Given the description of an element on the screen output the (x, y) to click on. 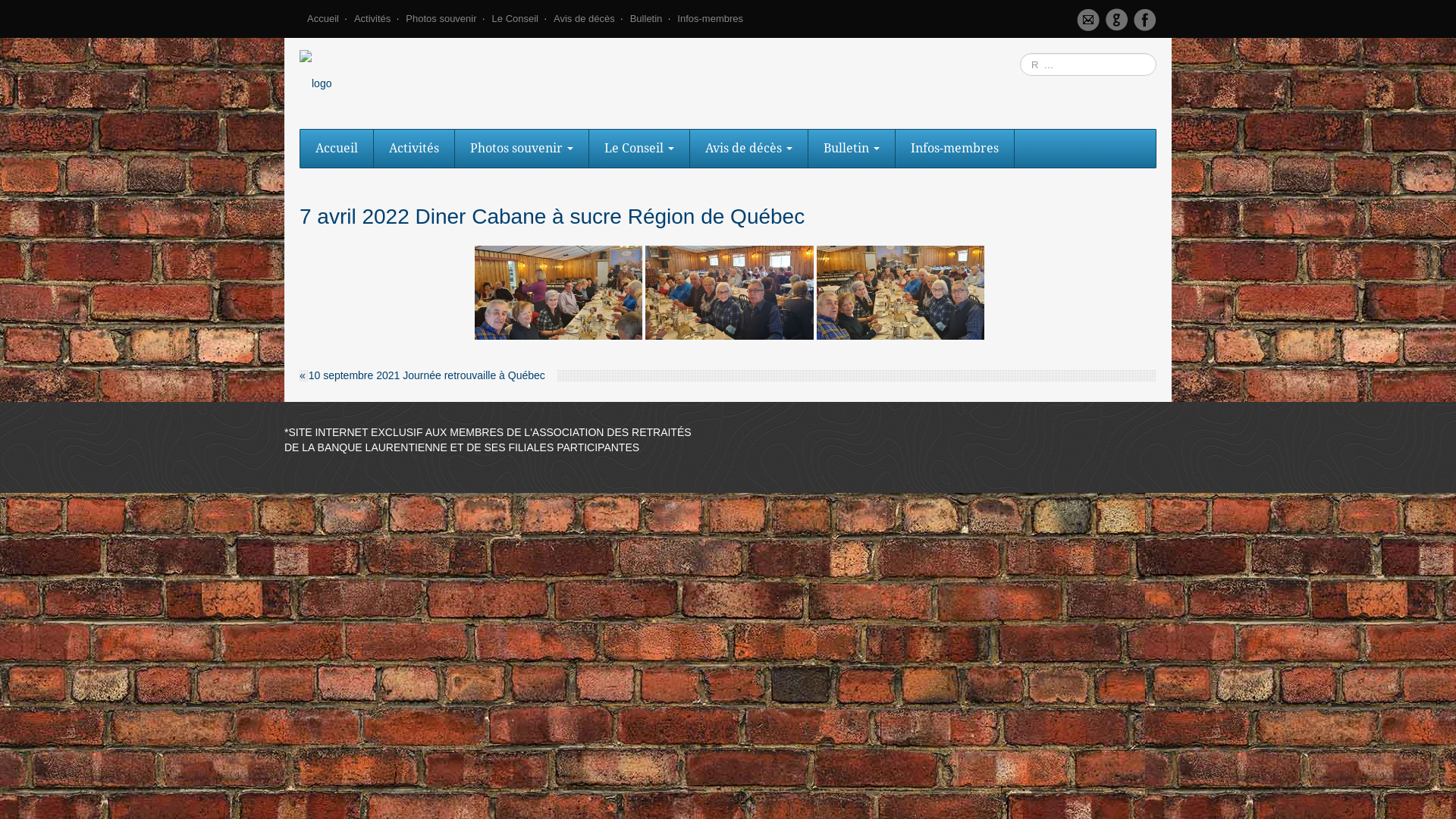
Infos-membres Element type: text (954, 148)
Le Conseil Element type: text (515, 22)
Accueil Element type: text (336, 148)
20220407_121135 (1) Element type: hover (729, 292)
Accueil Element type: text (322, 22)
20220407_121140 (1) Element type: hover (558, 292)
Photos souvenir Element type: text (522, 148)
Infos-membres Element type: text (709, 22)
Le Conseil Element type: text (639, 148)
Photos souvenir Element type: text (440, 22)
Bulletin Element type: text (851, 148)
20220407_121130 (1) Element type: hover (900, 292)
Bulletin Element type: text (646, 22)
